Given the description of an element on the screen output the (x, y) to click on. 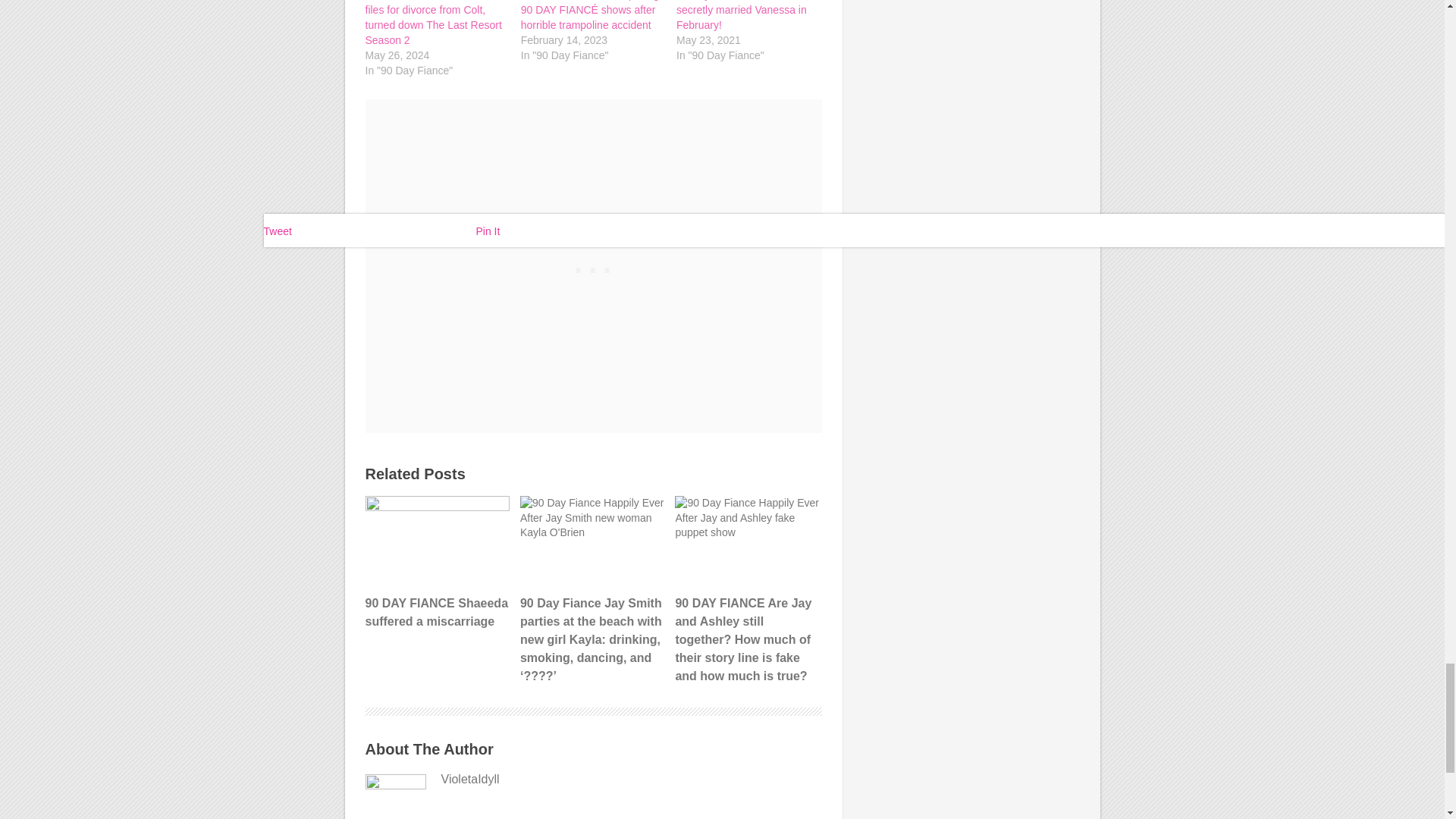
90 DAY FIANCE Shaeeda suffered a miscarriage (437, 563)
